Given the description of an element on the screen output the (x, y) to click on. 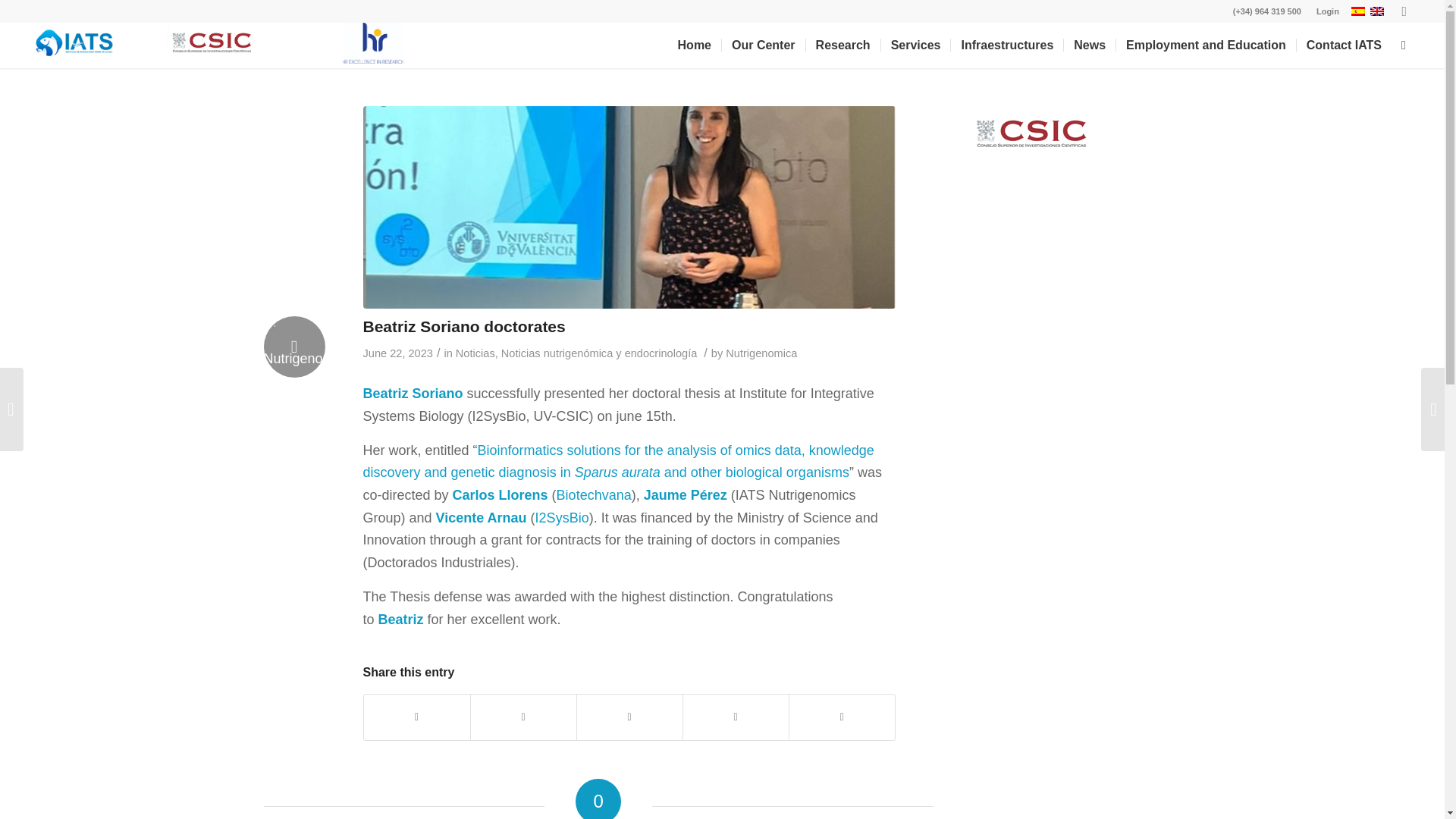
Posts by Nutrigenomica (760, 353)
Permanent Link: Beatriz Soriano doctorates (463, 325)
Employment and Education (1205, 44)
Login (1327, 11)
Research (842, 44)
English (1377, 10)
Services (915, 44)
Beatriz Soriano doctorates (463, 325)
Infraestructures (1006, 44)
I2SysBio (562, 517)
Tesis beatriz (628, 207)
Contact IATS (1343, 44)
News (1088, 44)
Home (694, 44)
Our Center (762, 44)
